Given the description of an element on the screen output the (x, y) to click on. 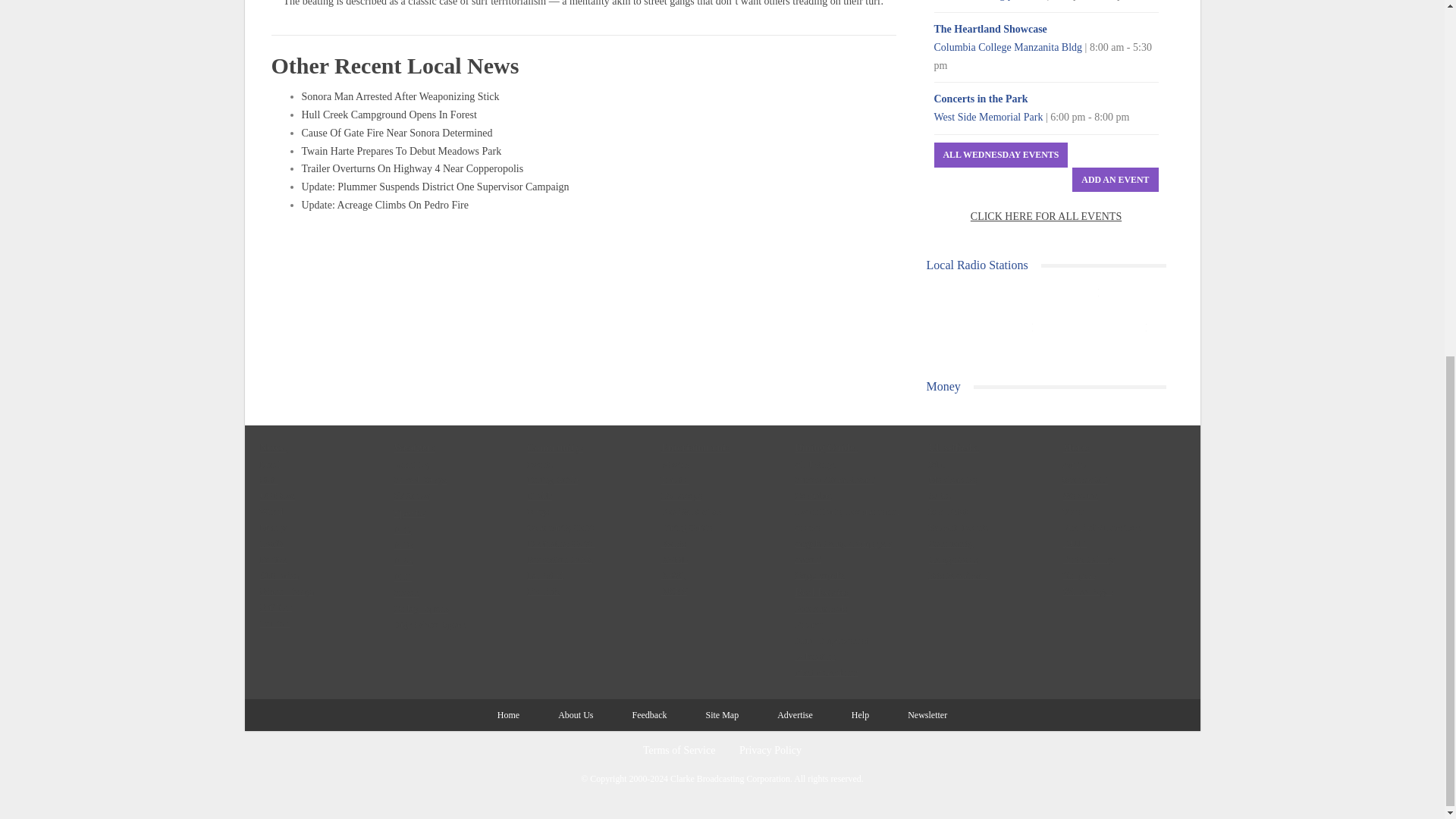
Add An Event (1114, 179)
All Wednesday Events (1001, 154)
